Given the description of an element on the screen output the (x, y) to click on. 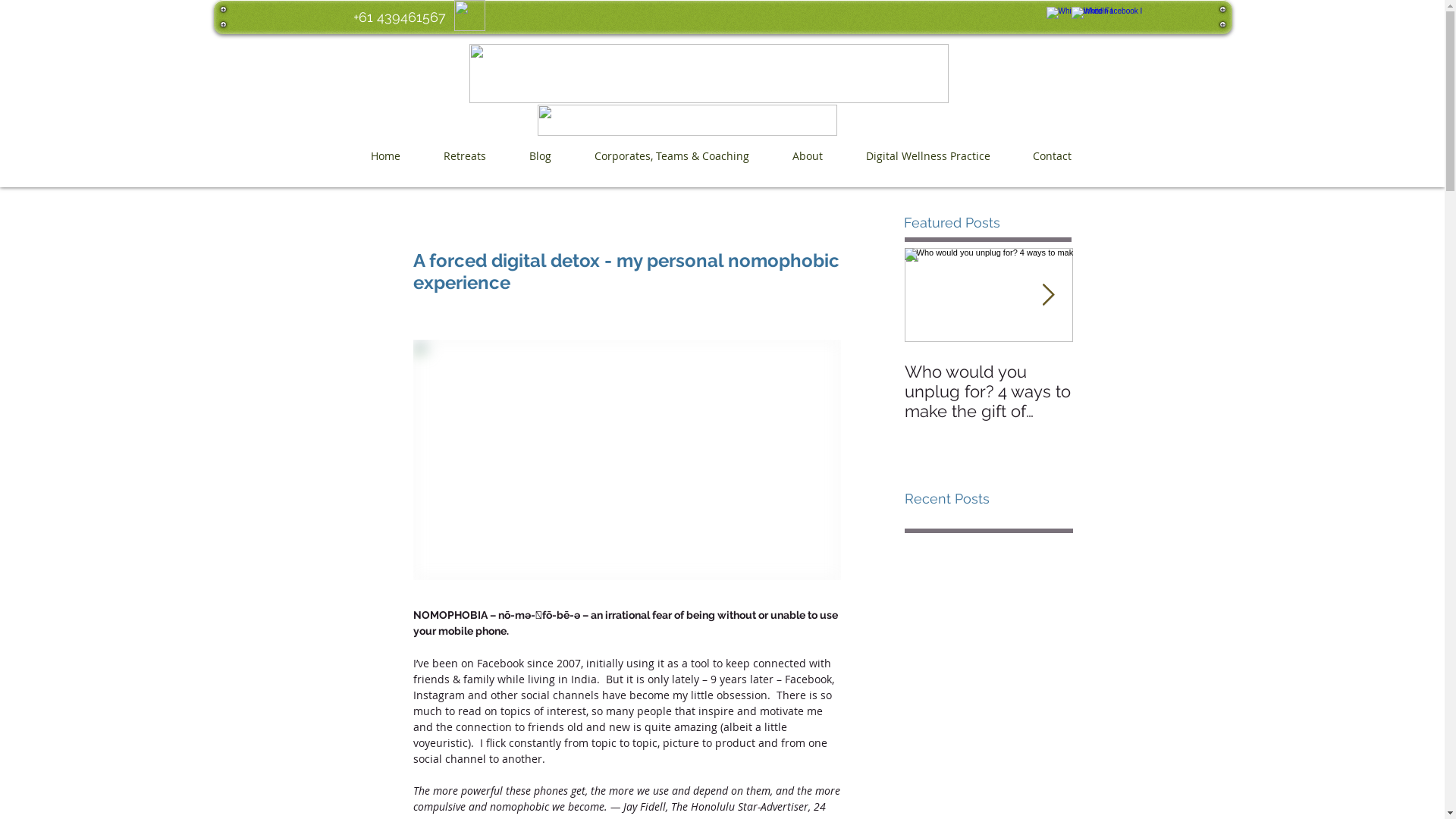
Digital Wellness Practice Element type: text (933, 156)
Corporates, Teams & Coaching Element type: text (678, 156)
Blog Element type: text (546, 156)
Home Element type: text (390, 156)
Retreats Element type: text (470, 156)
Contact Element type: text (1057, 156)
About Element type: text (813, 156)
